Given the description of an element on the screen output the (x, y) to click on. 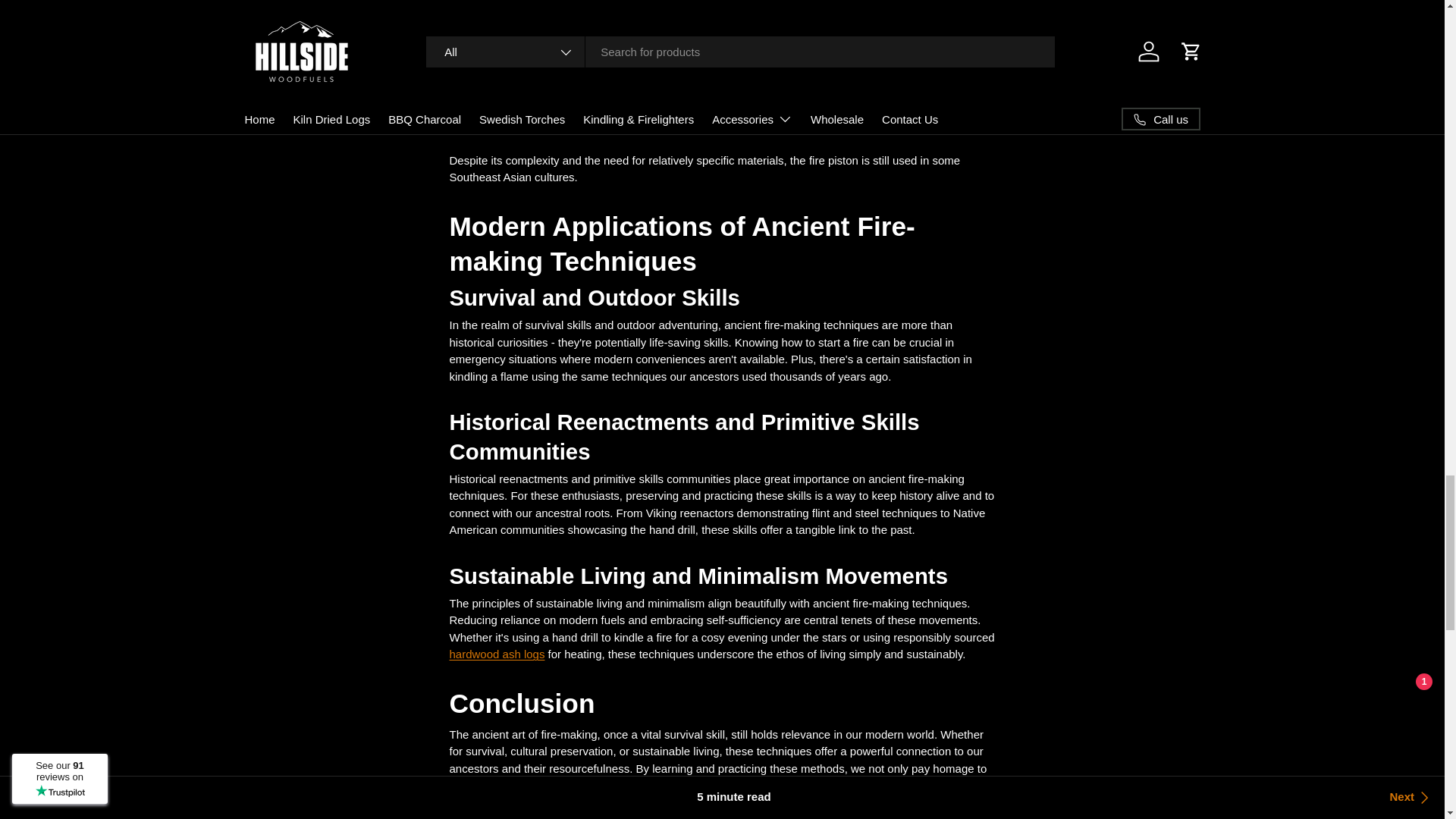
hardwood ash logs (496, 653)
